Given the description of an element on the screen output the (x, y) to click on. 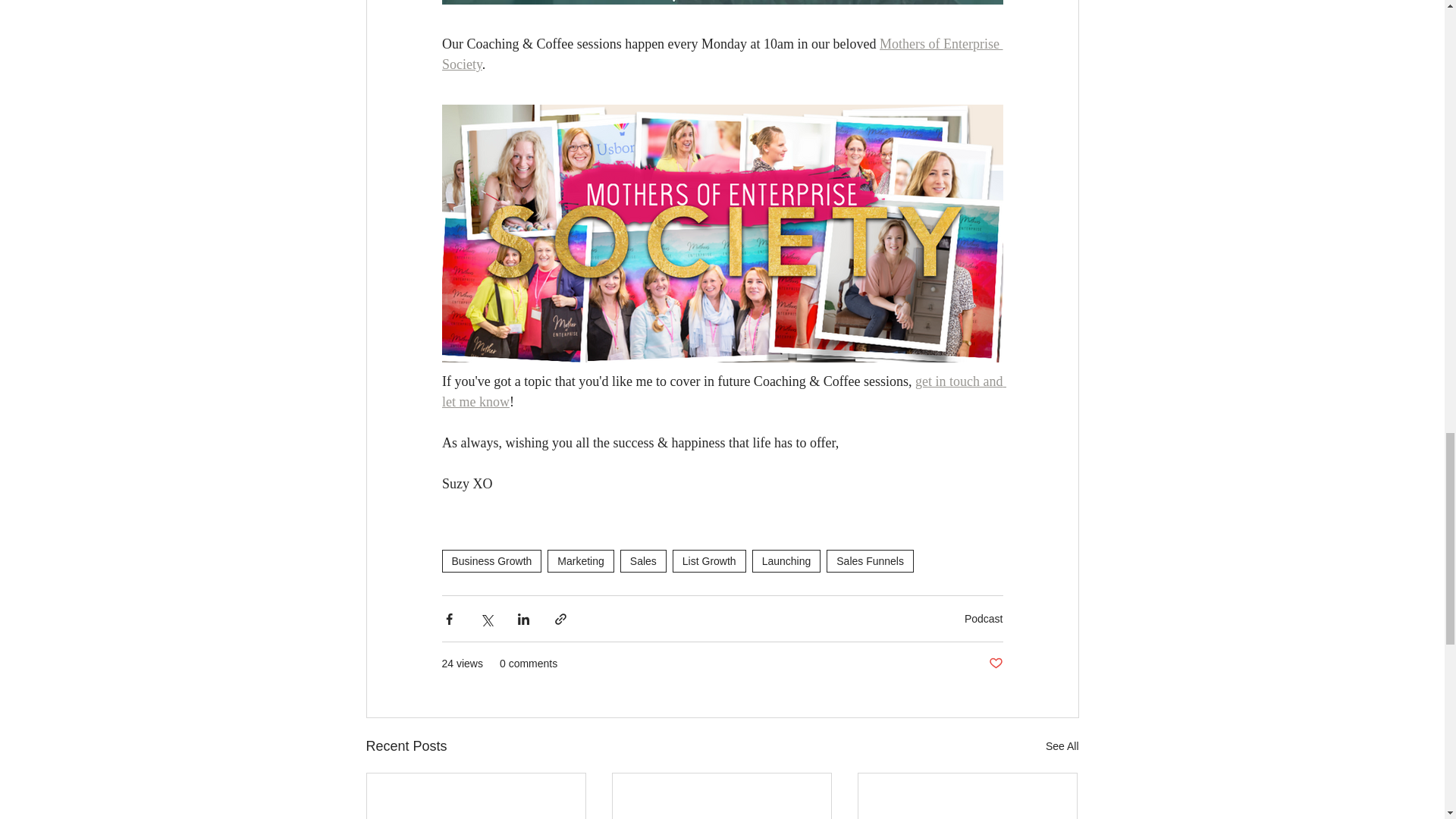
List Growth (708, 560)
Marketing (579, 560)
Mothers of Enterprise Society (722, 54)
Sales (643, 560)
Sales Funnels (870, 560)
Business Growth (491, 560)
Launching (786, 560)
get in touch and let me know (723, 391)
